Given the description of an element on the screen output the (x, y) to click on. 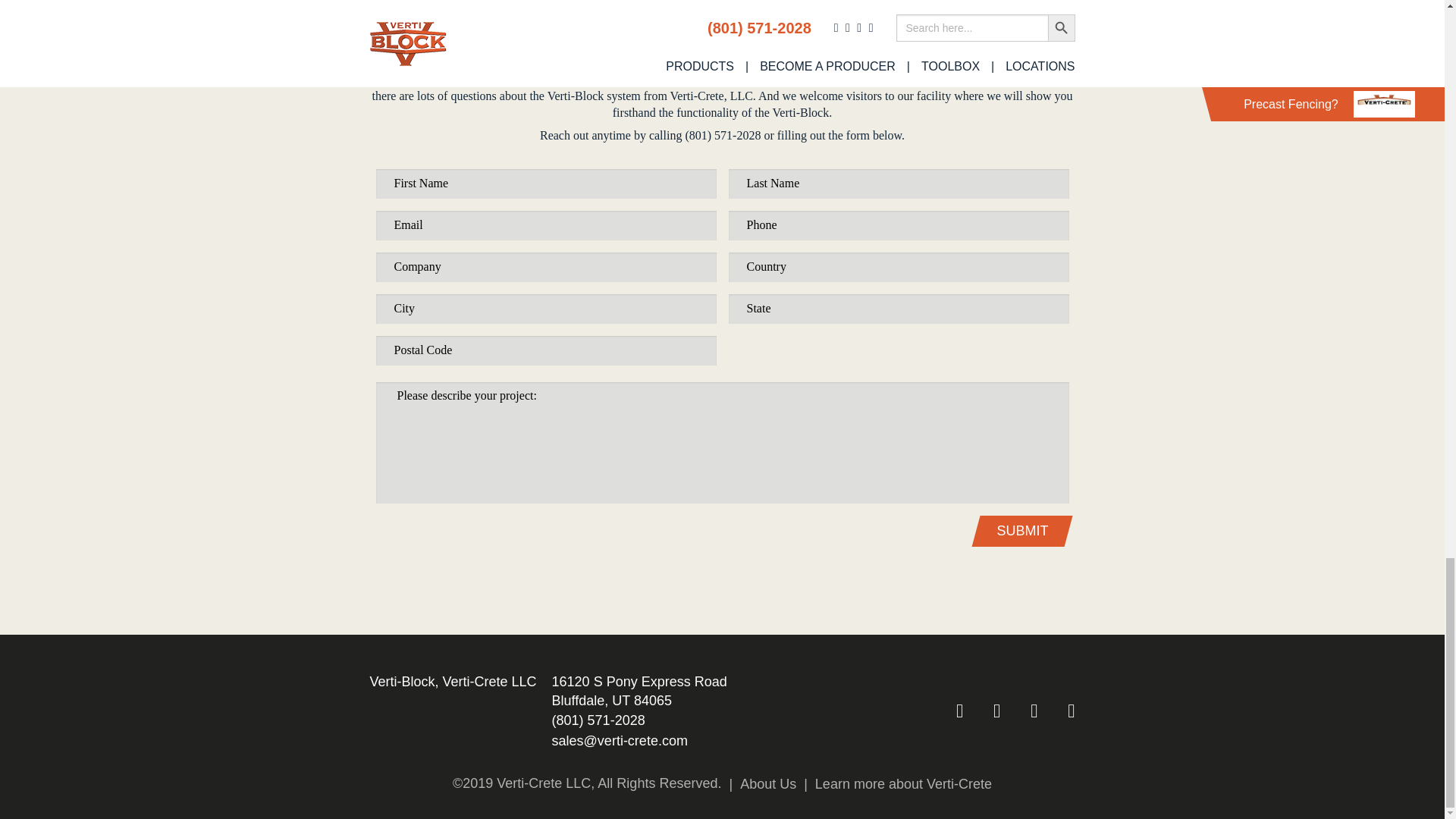
About Us (758, 783)
SUBMIT (1021, 531)
Learn more about Verti-Crete (893, 783)
